Given the description of an element on the screen output the (x, y) to click on. 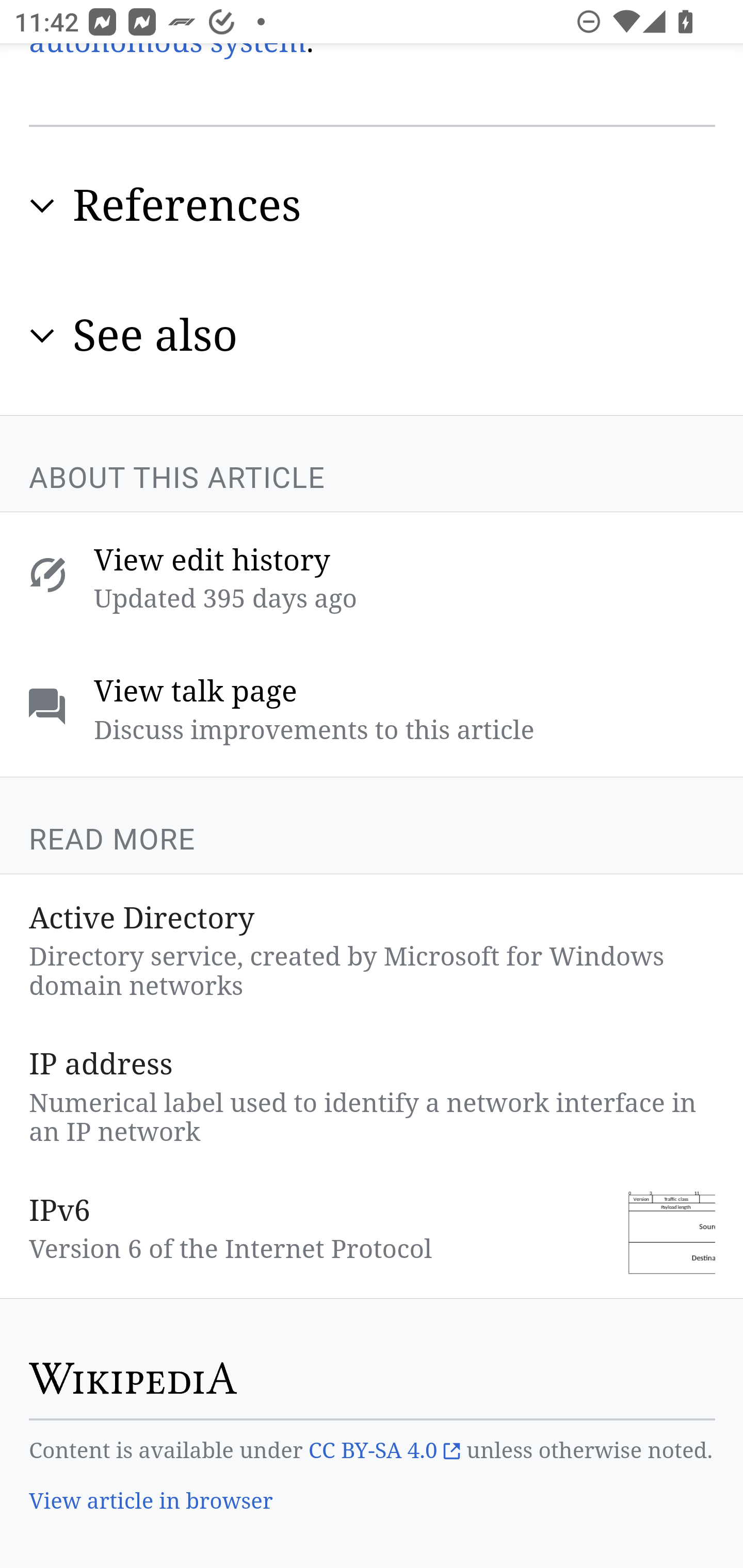
Expand section References (372, 206)
Expand section (41, 206)
Expand section See also (372, 336)
Expand section (41, 336)
CC BY-SA 4.0 (384, 1451)
View article in browser (151, 1502)
